Given the description of an element on the screen output the (x, y) to click on. 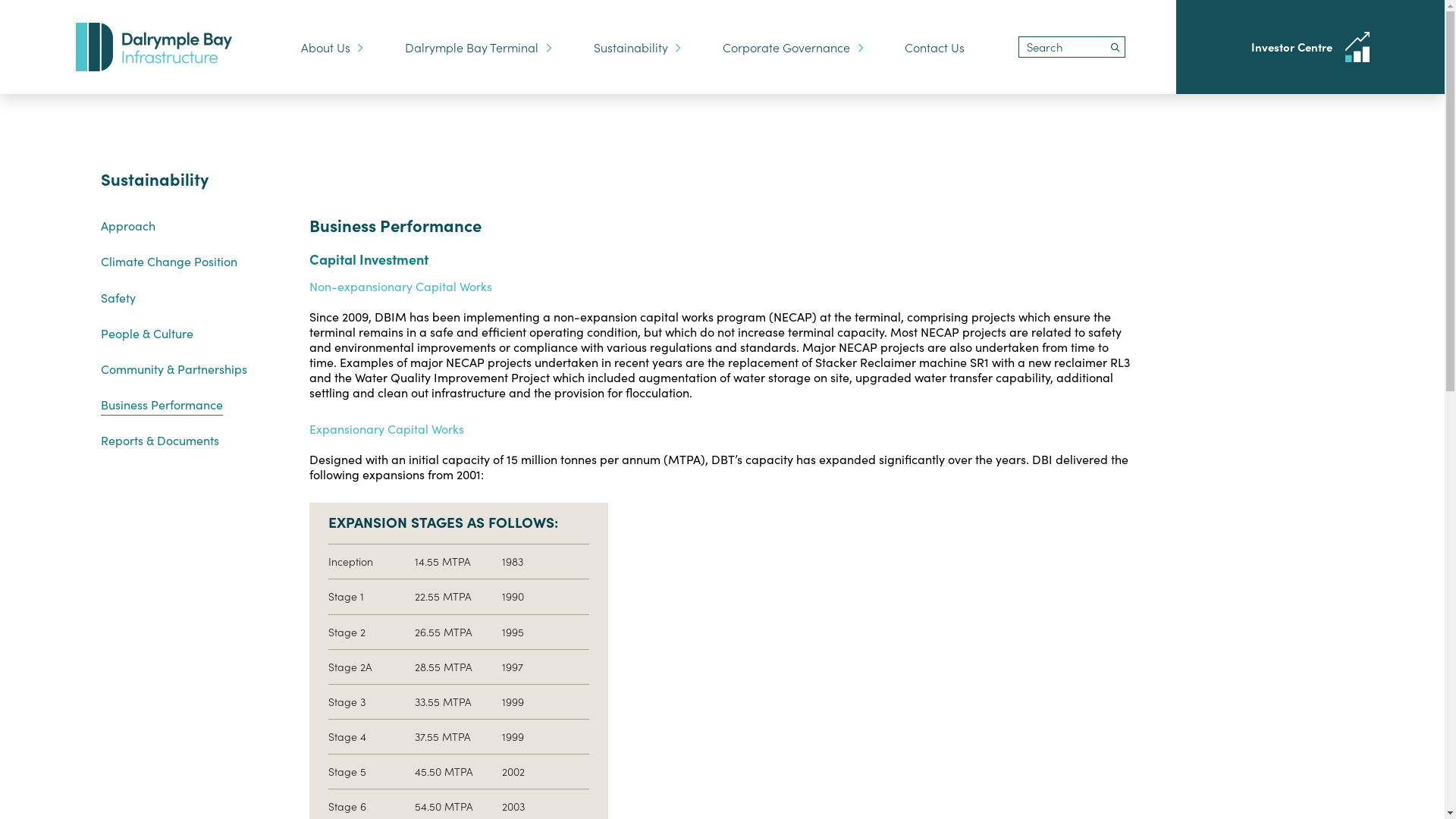
Safety Element type: text (117, 296)
Sustainability Element type: text (636, 47)
Dalrymple Bay Terminal Element type: text (477, 47)
Community & Partnerships Element type: text (173, 368)
People & Culture Element type: text (146, 332)
Business Performance Element type: text (161, 405)
Corporate Governance Element type: text (792, 47)
Approach Element type: text (127, 224)
Reports & Documents Element type: text (159, 439)
Investor Centre Element type: text (1310, 47)
About Us Element type: text (332, 47)
Climate Change Position Element type: text (168, 260)
Contact Us Element type: text (934, 47)
